Given the description of an element on the screen output the (x, y) to click on. 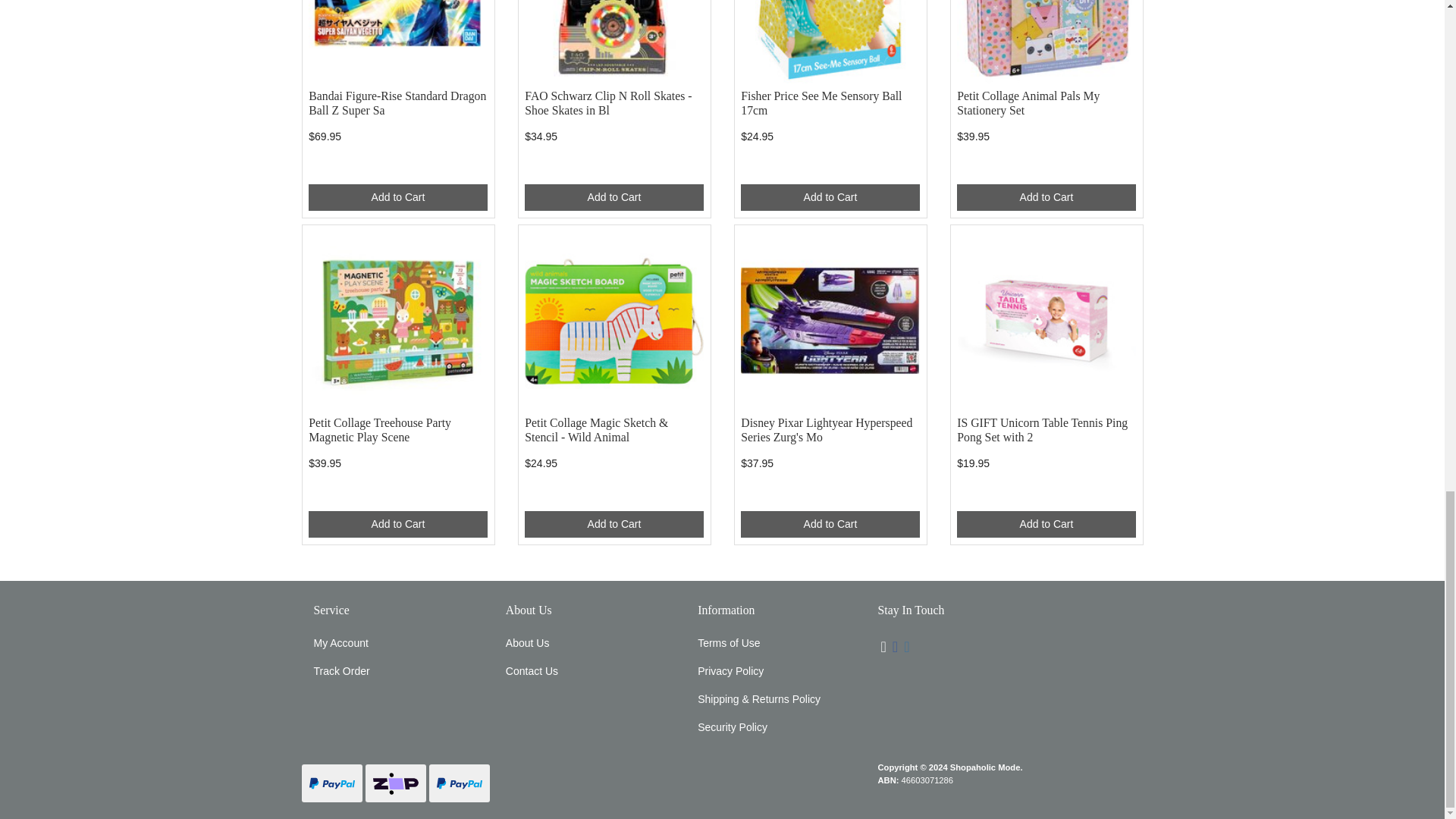
PayPal Message 2 (397, 168)
Add Petit Collage Animal Pals My Stationery Set to Cart (1045, 197)
PayPal Message 7 (613, 495)
PayPal Message 3 (613, 168)
PayPal Message 8 (829, 495)
PayPal Message 4 (829, 168)
Add Fisher Price See Me Sensory Ball 17cm to Cart (829, 197)
PayPal Message 5 (1045, 168)
PayPal Message 6 (397, 495)
